Given the description of an element on the screen output the (x, y) to click on. 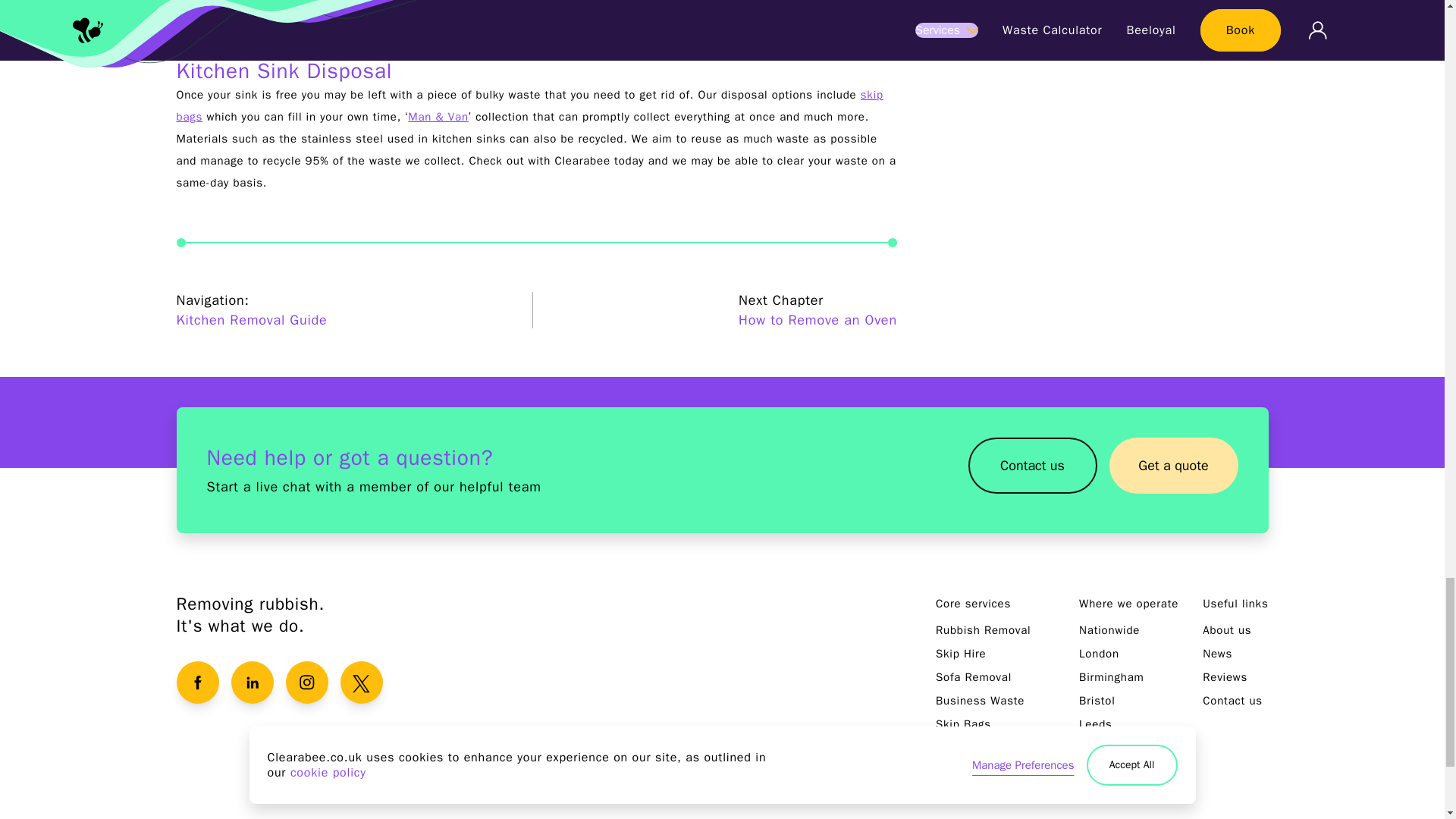
Skip Hire (961, 653)
Bin Collection (973, 771)
Business Waste (980, 700)
Skip Bags (963, 724)
Rubbish Removal (983, 630)
Get a quote (1172, 465)
Get a quote (1172, 469)
Contact us (1032, 469)
Kitchen Removal Guide (251, 320)
Furniture Removal (985, 747)
